Given the description of an element on the screen output the (x, y) to click on. 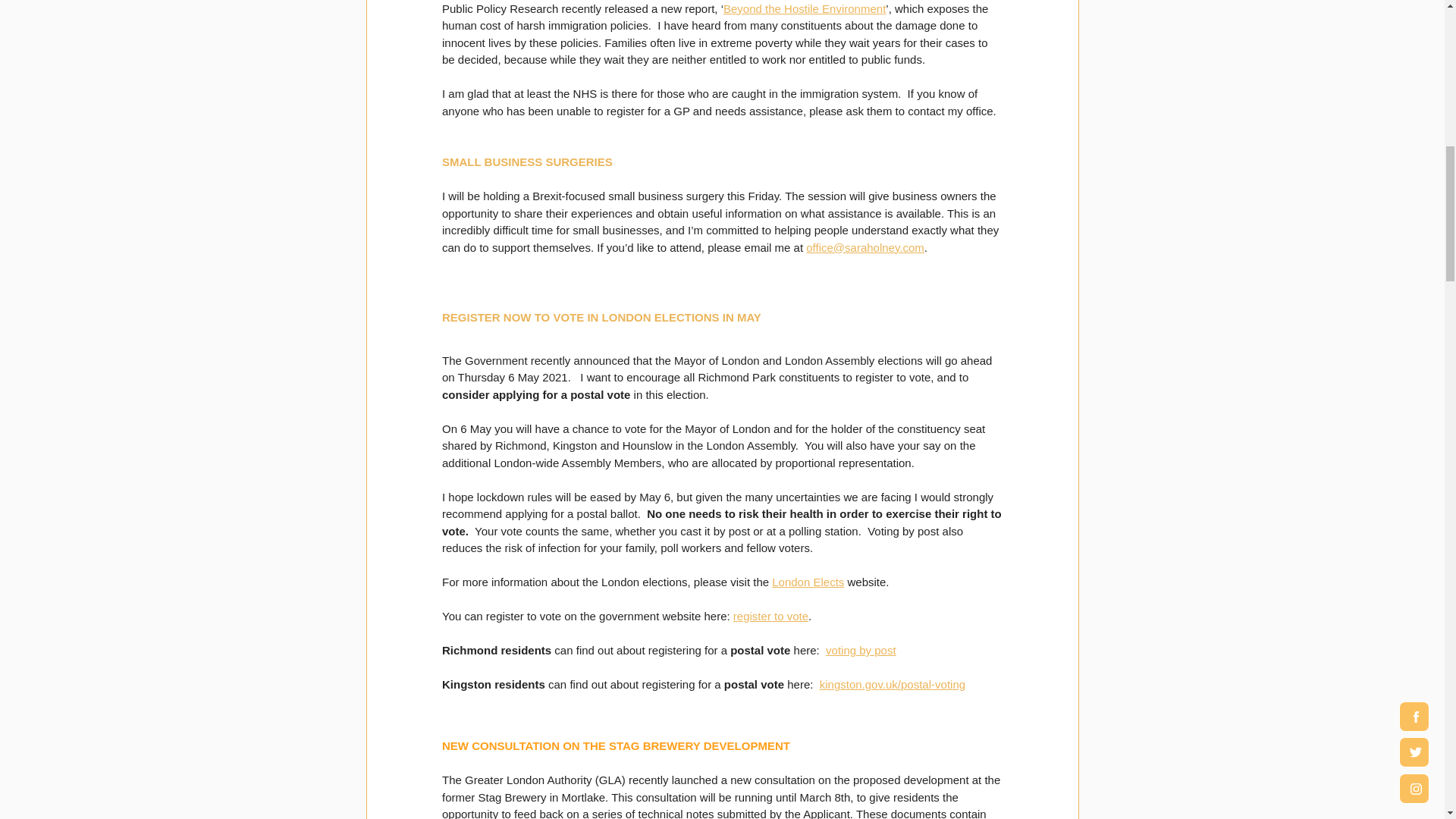
voting by post (860, 649)
London Elects (807, 581)
register to vote (770, 615)
Beyond the Hostile Environment (804, 7)
